Given the description of an element on the screen output the (x, y) to click on. 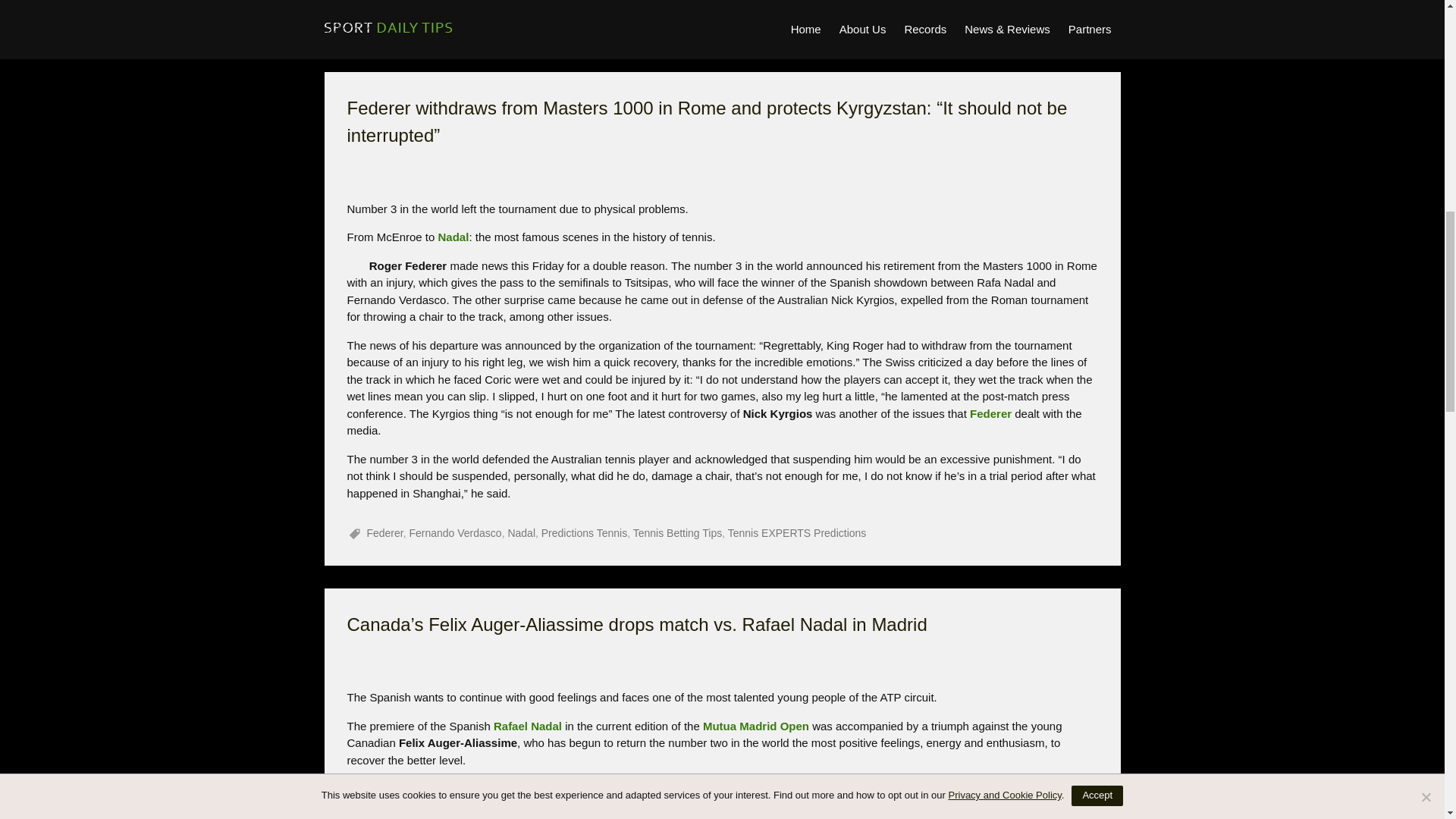
Tennis Predictions and Betting Tips (735, 16)
Nadal (453, 236)
Mutua Madrid Open (754, 725)
Indian Wells (521, 788)
Tennis Tips (850, 16)
Predictions Tennis (584, 532)
tennis match tips (607, 16)
Federer (990, 412)
Tennis Betting Tips (677, 532)
Premium Tipsters (520, 16)
Rafael Nadal (527, 725)
Nadal (520, 532)
Fernando Verdasco (454, 532)
Novak Djokovic (436, 16)
Federer (384, 532)
